Given the description of an element on the screen output the (x, y) to click on. 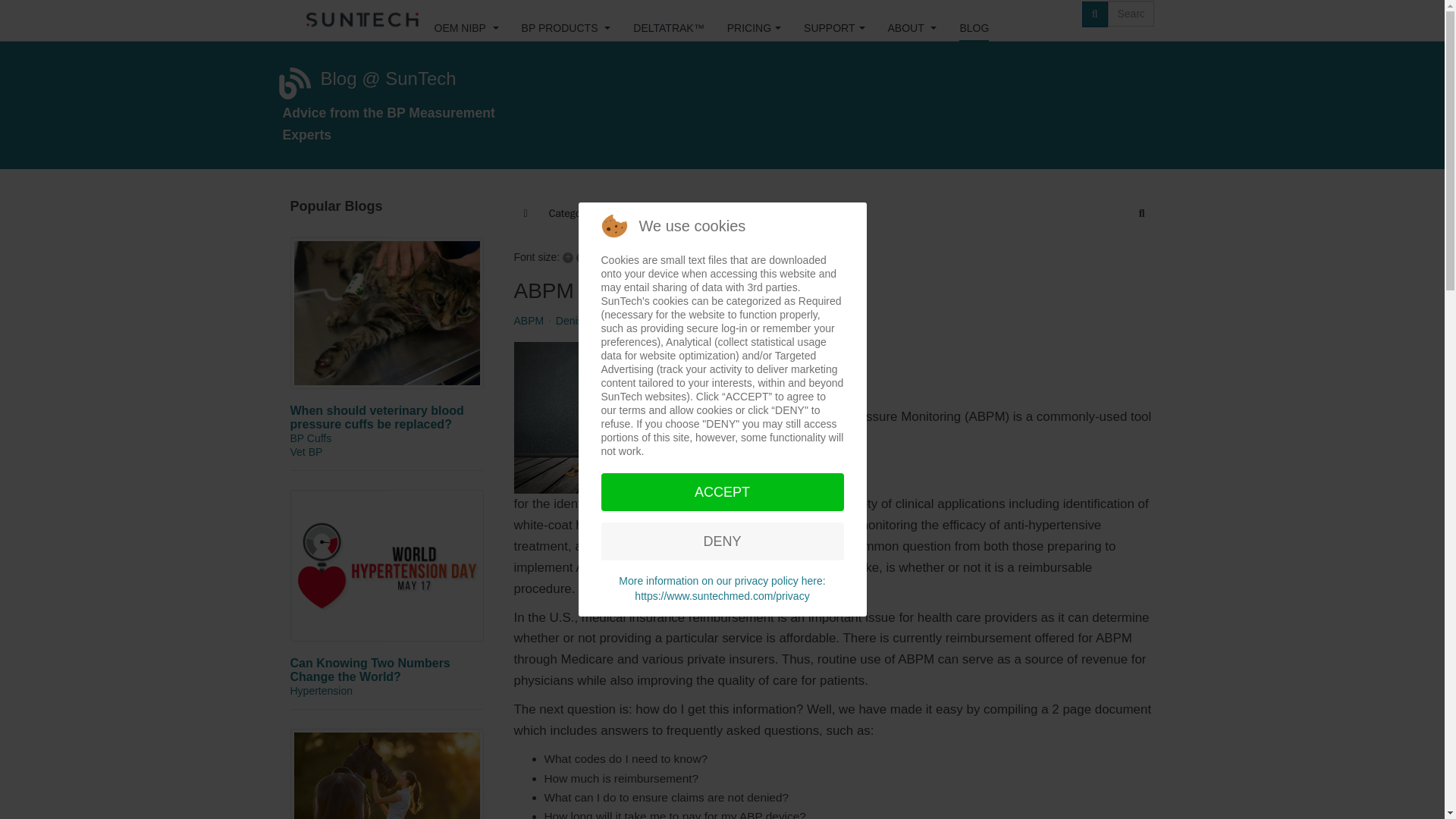
Tags (630, 213)
Can Knowing Two Numbers Change the World? (369, 669)
World-Hypertension-Day-H (386, 565)
Print (631, 256)
Purity III (349, 19)
When should veterinary blood pressure cuffs be replaced? (376, 417)
Categories (573, 213)
